Given the description of an element on the screen output the (x, y) to click on. 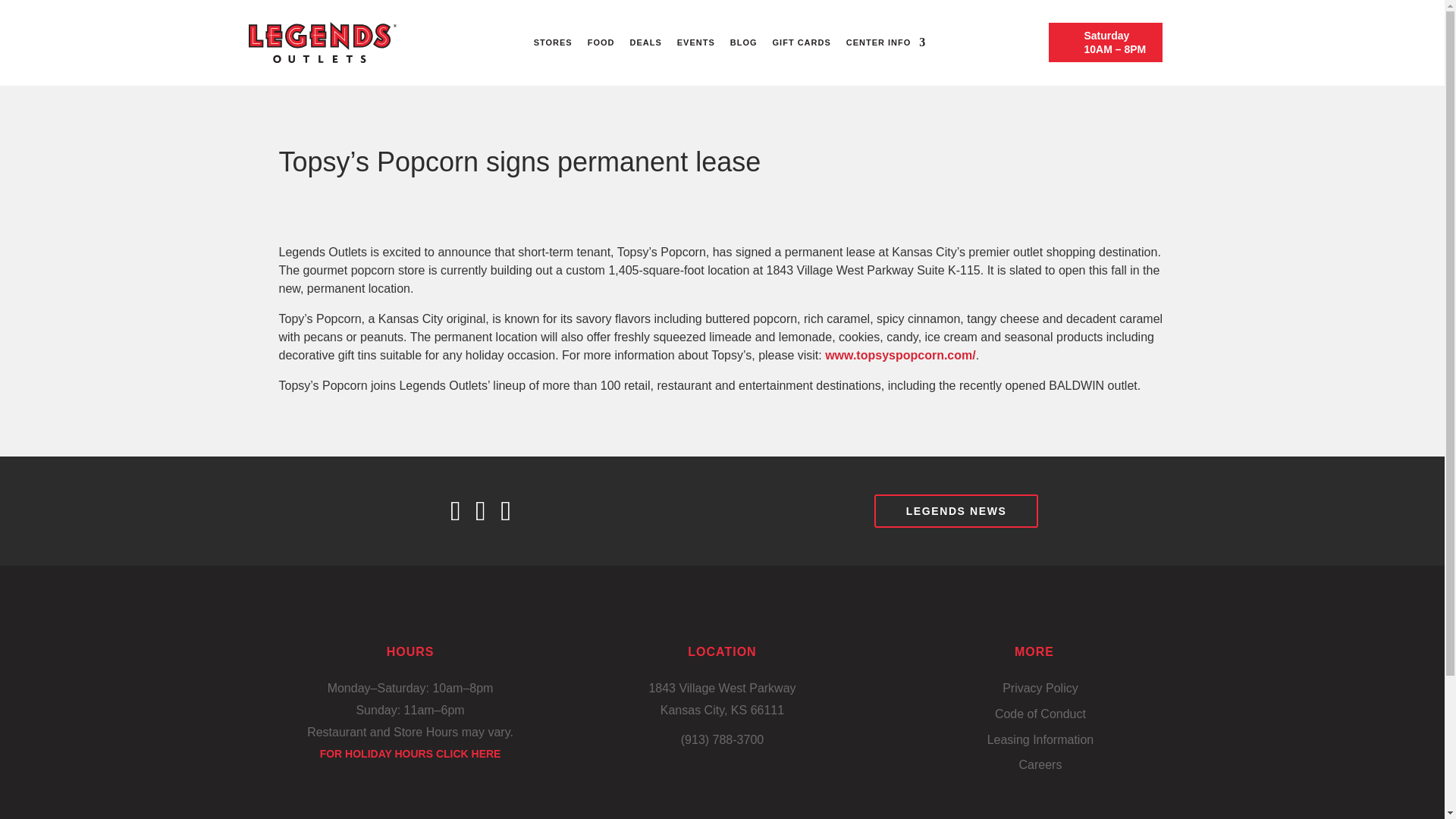
Code of Conduct (1040, 714)
Careers (1039, 765)
Follow on Facebook (462, 510)
STORES (552, 42)
Follow on X (488, 510)
Leasing Information (1040, 740)
FOOD (601, 42)
GIFT CARDS (801, 42)
Follow on Instagram (512, 510)
Privacy Policy (1040, 689)
CENTER INFO (878, 42)
FOR HOLIDAY HOURS CLICK HERE (410, 753)
LEGENDS NEWS (957, 510)
BLOG (743, 42)
DEALS (644, 42)
